Given the description of an element on the screen output the (x, y) to click on. 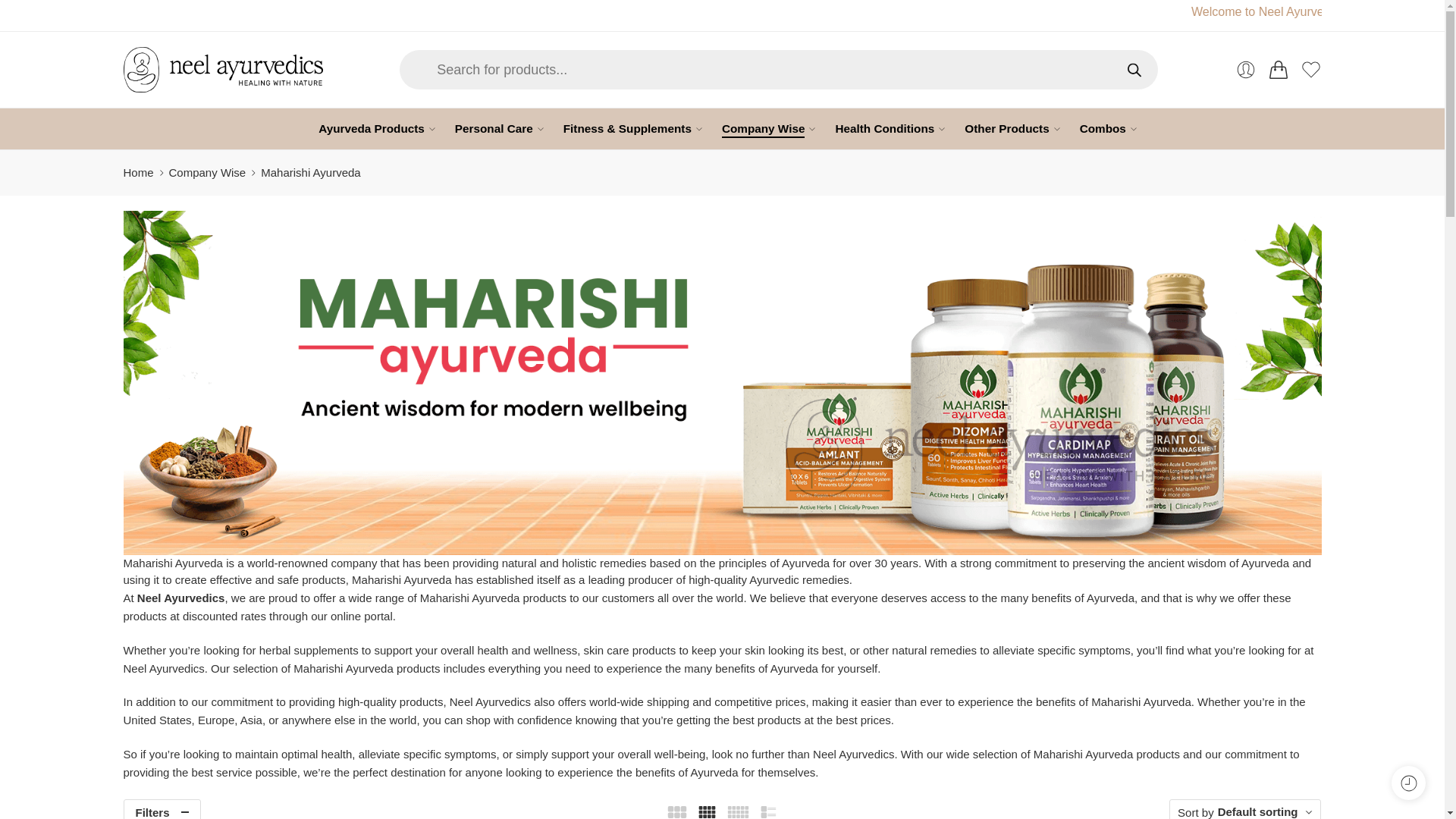
Ayurveda Products (371, 128)
Ayurveda Products (371, 128)
Company Wise (763, 128)
Filters (161, 809)
Combos (1102, 128)
Company Wise (207, 172)
Other Products (1005, 128)
Personal Care (493, 128)
Default sorting (1257, 811)
Other Products (1005, 128)
Personal Care (493, 128)
Home (137, 172)
Home (137, 172)
Health Conditions (884, 128)
